Given the description of an element on the screen output the (x, y) to click on. 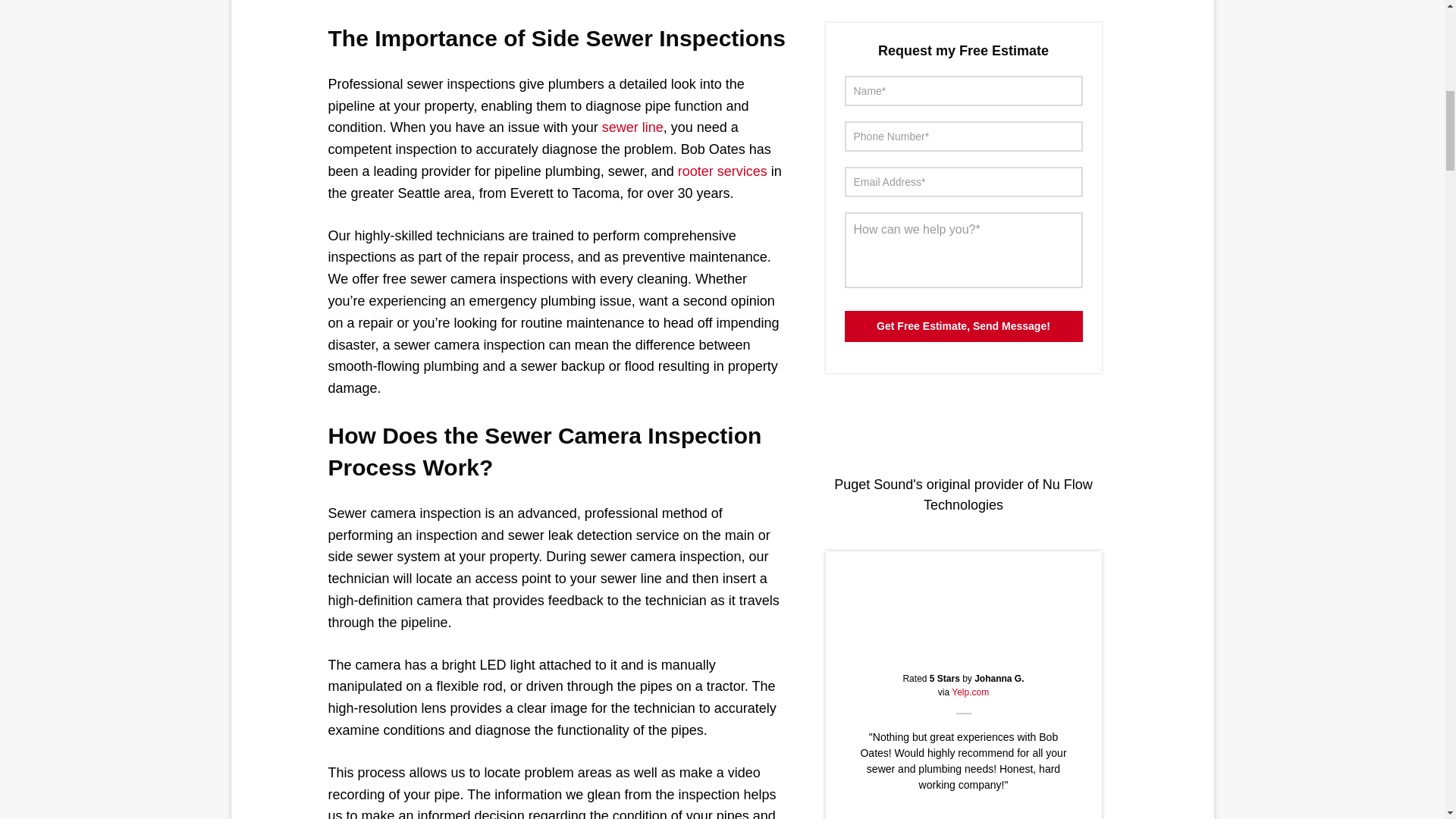
stars (963, 649)
johanna-g (963, 601)
Get Free Estimate, Send Message! (963, 326)
logo-nu-flow (963, 427)
